Given the description of an element on the screen output the (x, y) to click on. 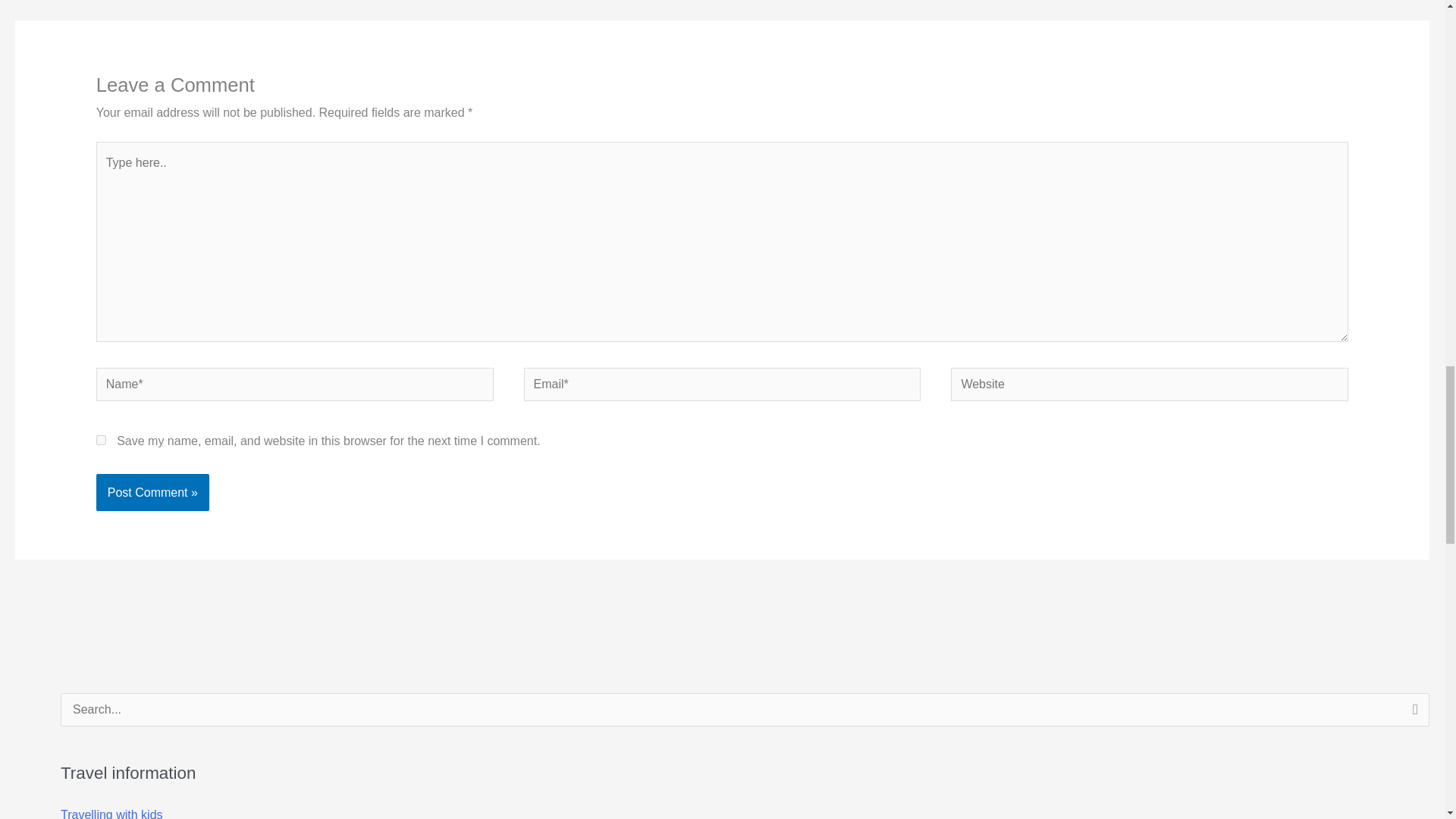
yes (101, 439)
